Given the description of an element on the screen output the (x, y) to click on. 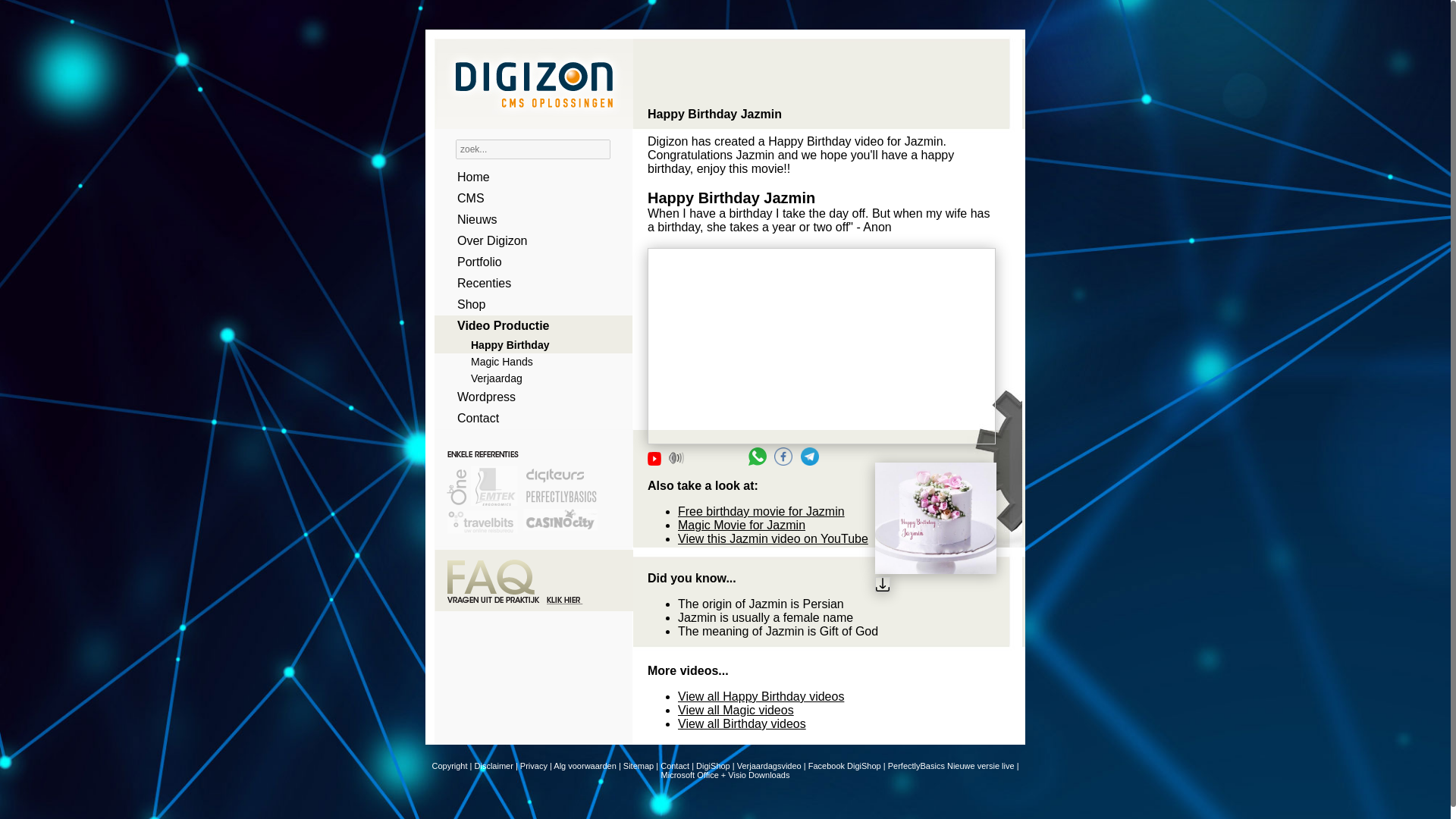
Video Productie (528, 325)
Shop (528, 304)
Alg voorwaarden (584, 765)
Pronounce Jazmin (676, 458)
Happy Birthday Jazmin (821, 346)
Happy Birthday (528, 344)
PerfectlyBasics Nieuwe versie live (951, 765)
Contact (674, 765)
View all Happy Birthday videos (761, 696)
Portfolio (528, 261)
View on Youtube (656, 461)
Free birthday movie for Jazmin (761, 511)
Sitemap (638, 765)
Facebook DigiShop (844, 765)
View this Jazmin video on YouTube (772, 538)
